Given the description of an element on the screen output the (x, y) to click on. 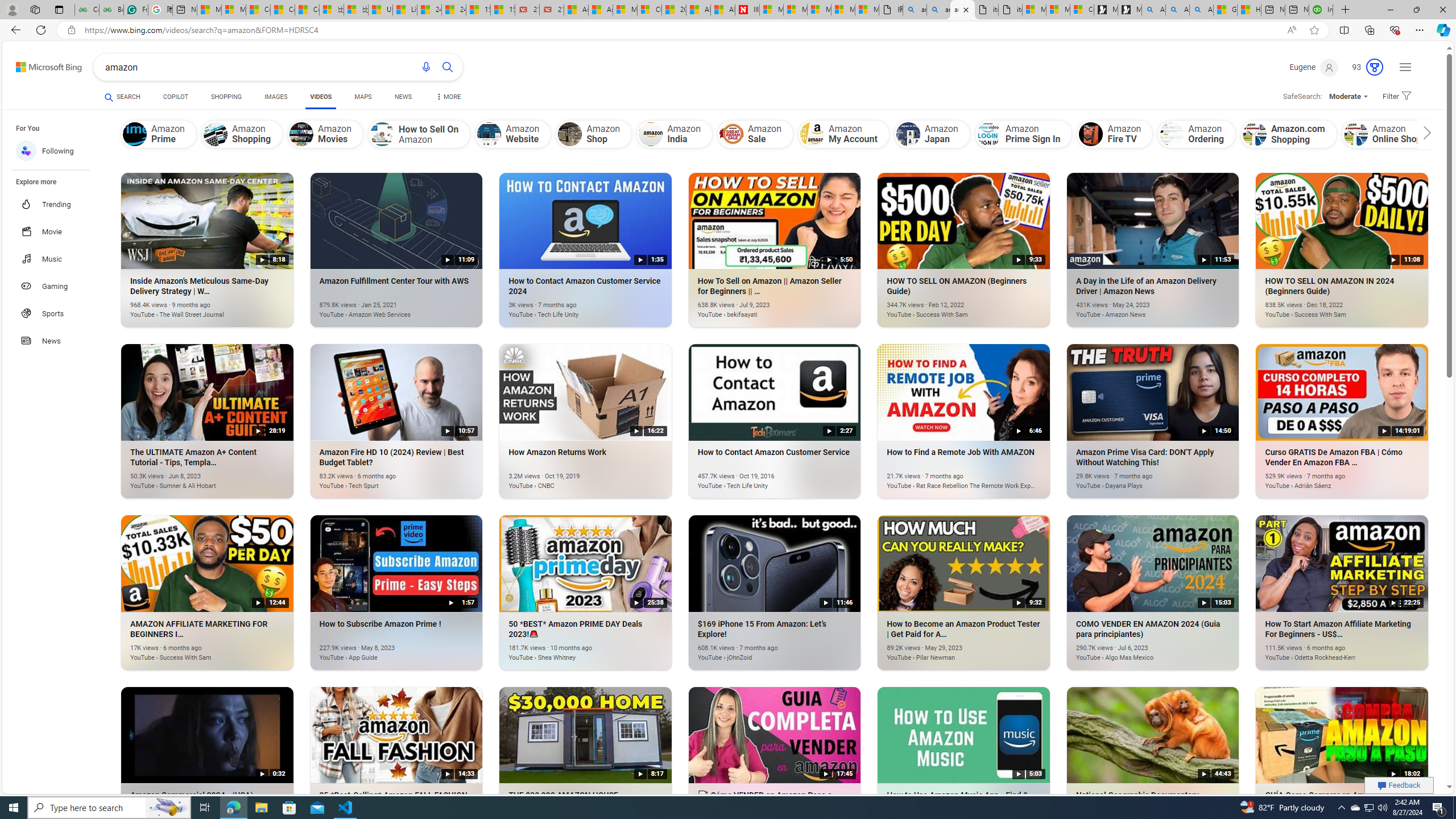
Microsoft Rewards 93 (1363, 67)
Amazon Shop (593, 134)
Amazon Shopping (214, 133)
Best SSL Certificates Provider in India - GeeksforGeeks (111, 9)
